Given the description of an element on the screen output the (x, y) to click on. 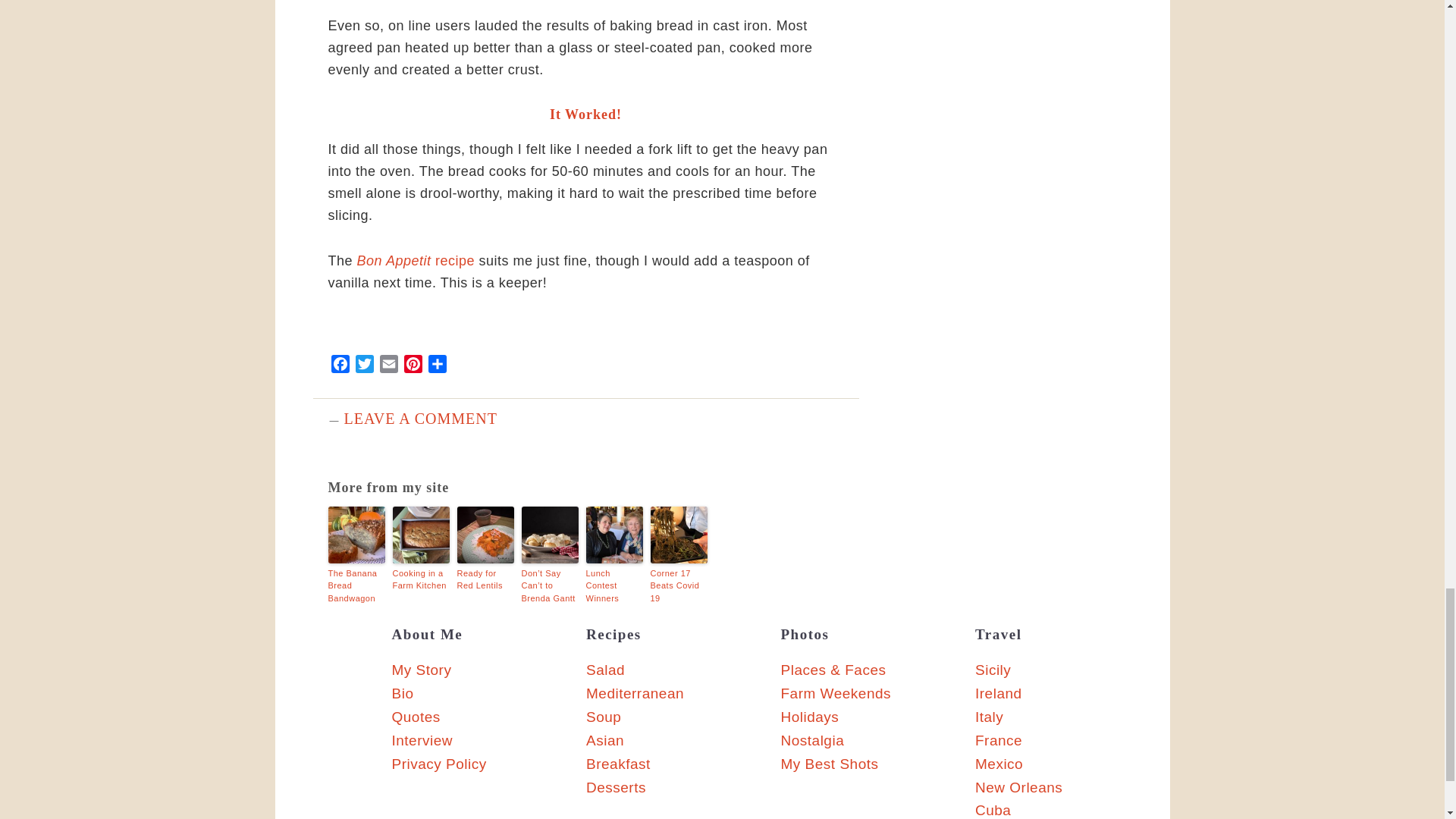
Share (436, 366)
Email (387, 366)
Facebook (339, 366)
Bon Appetit recipe (415, 260)
Twitter (363, 366)
Twitter (363, 366)
Pinterest (412, 366)
Facebook (339, 366)
Email (387, 366)
Pinterest (412, 366)
